Given the description of an element on the screen output the (x, y) to click on. 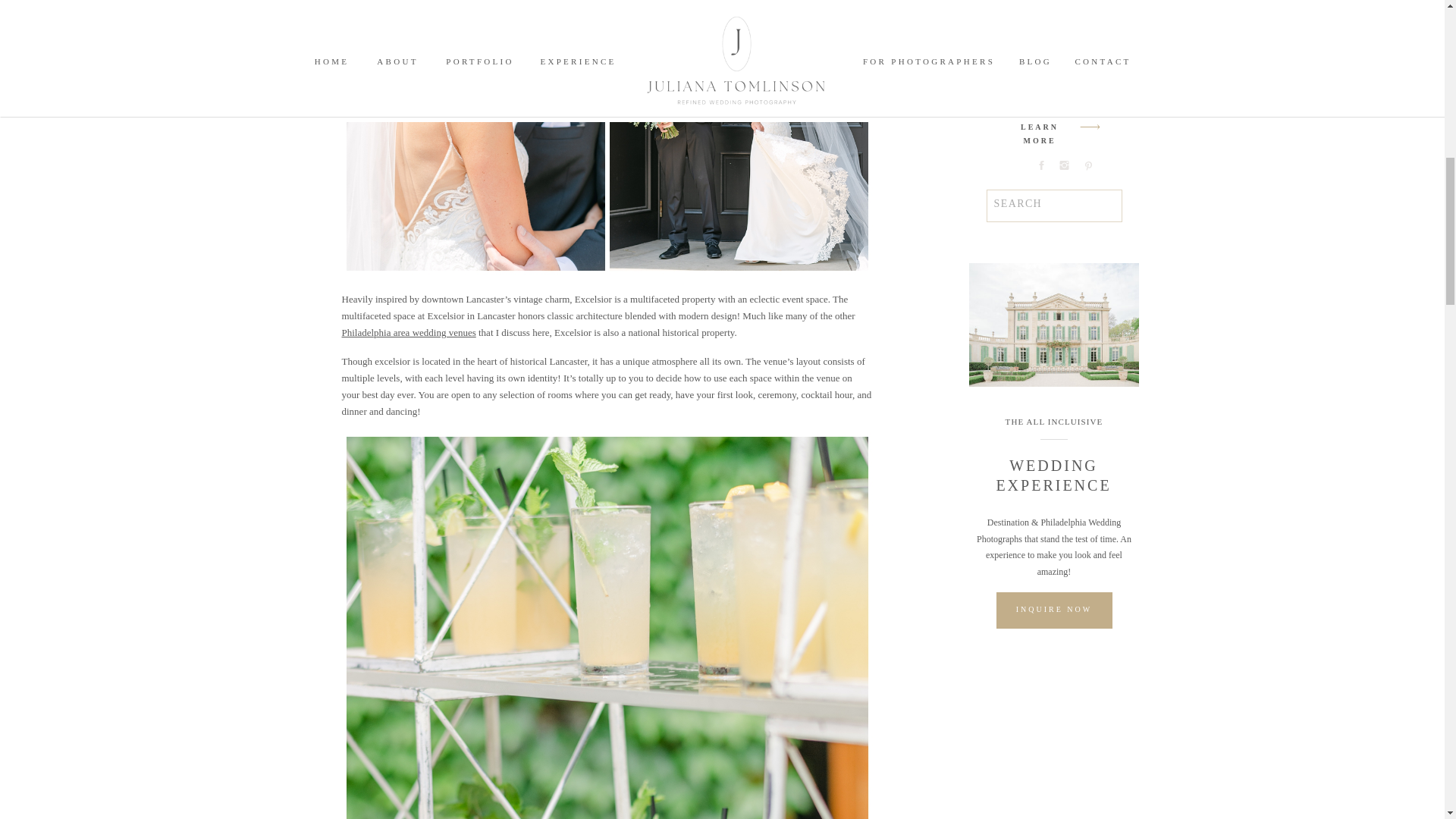
LEARN MORE (1039, 129)
arrow (1089, 126)
Philadelphia area wedding venues (408, 332)
arrow (1089, 126)
INQUIRE NOW (1053, 609)
